Given the description of an element on the screen output the (x, y) to click on. 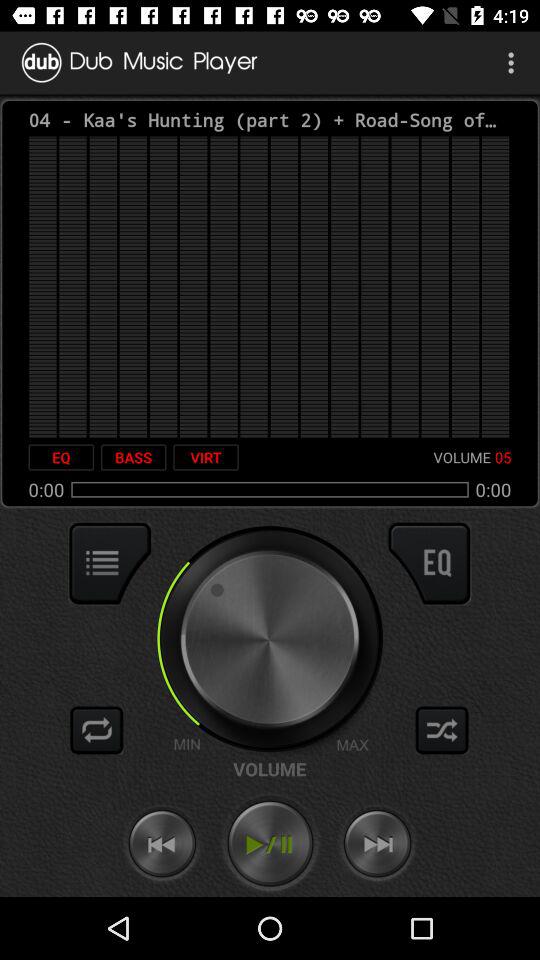
next song (377, 844)
